Given the description of an element on the screen output the (x, y) to click on. 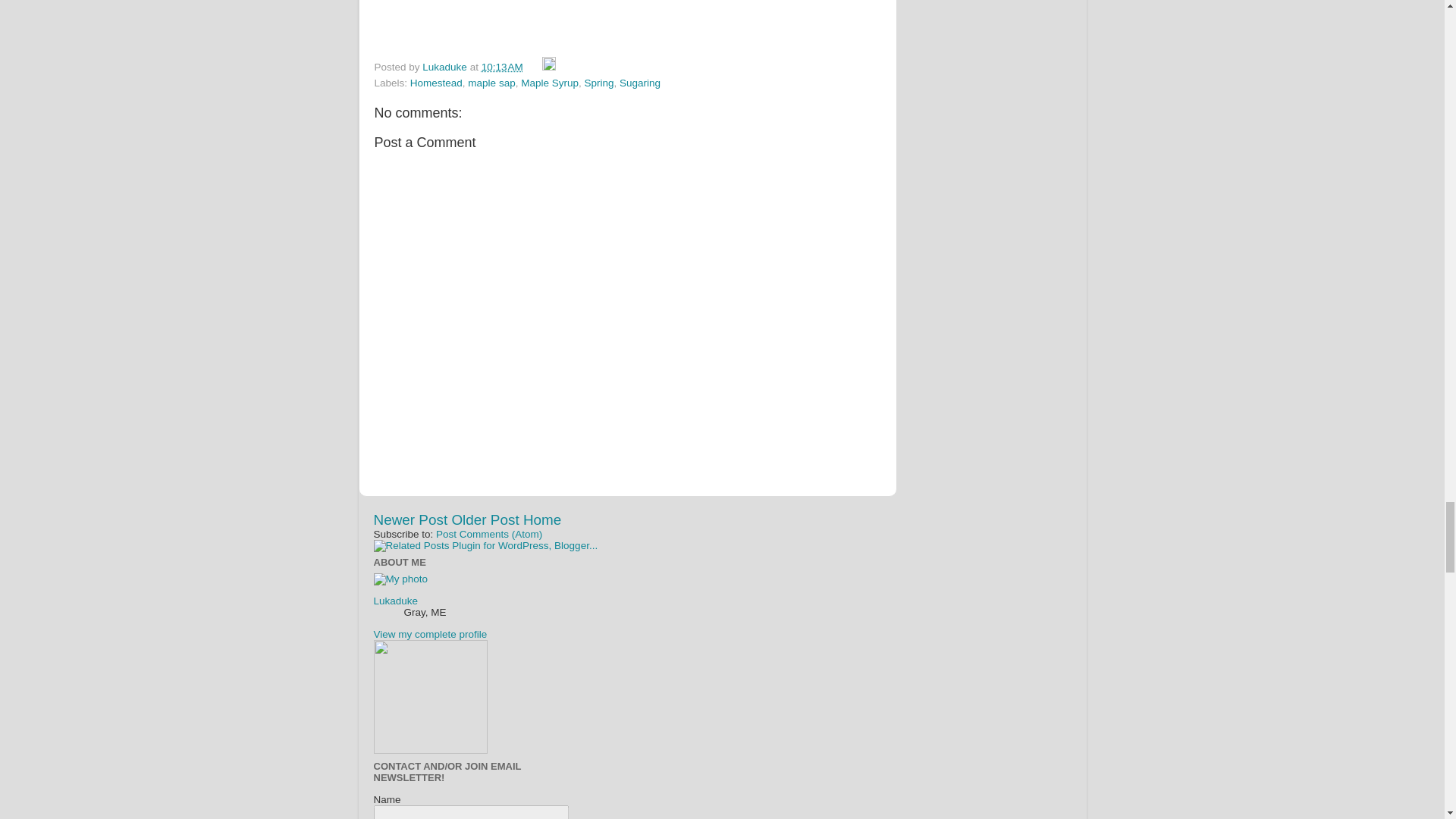
View my complete profile (429, 633)
Home (541, 519)
Edit Post (548, 66)
Maple Syrup (549, 82)
Email Post (534, 66)
Spring (597, 82)
maple sap (491, 82)
Older Post (484, 519)
Newer Post (409, 519)
Newer Post (409, 519)
Sugaring (640, 82)
permanent link (501, 66)
Lukaduke (445, 66)
author profile (445, 66)
